Given the description of an element on the screen output the (x, y) to click on. 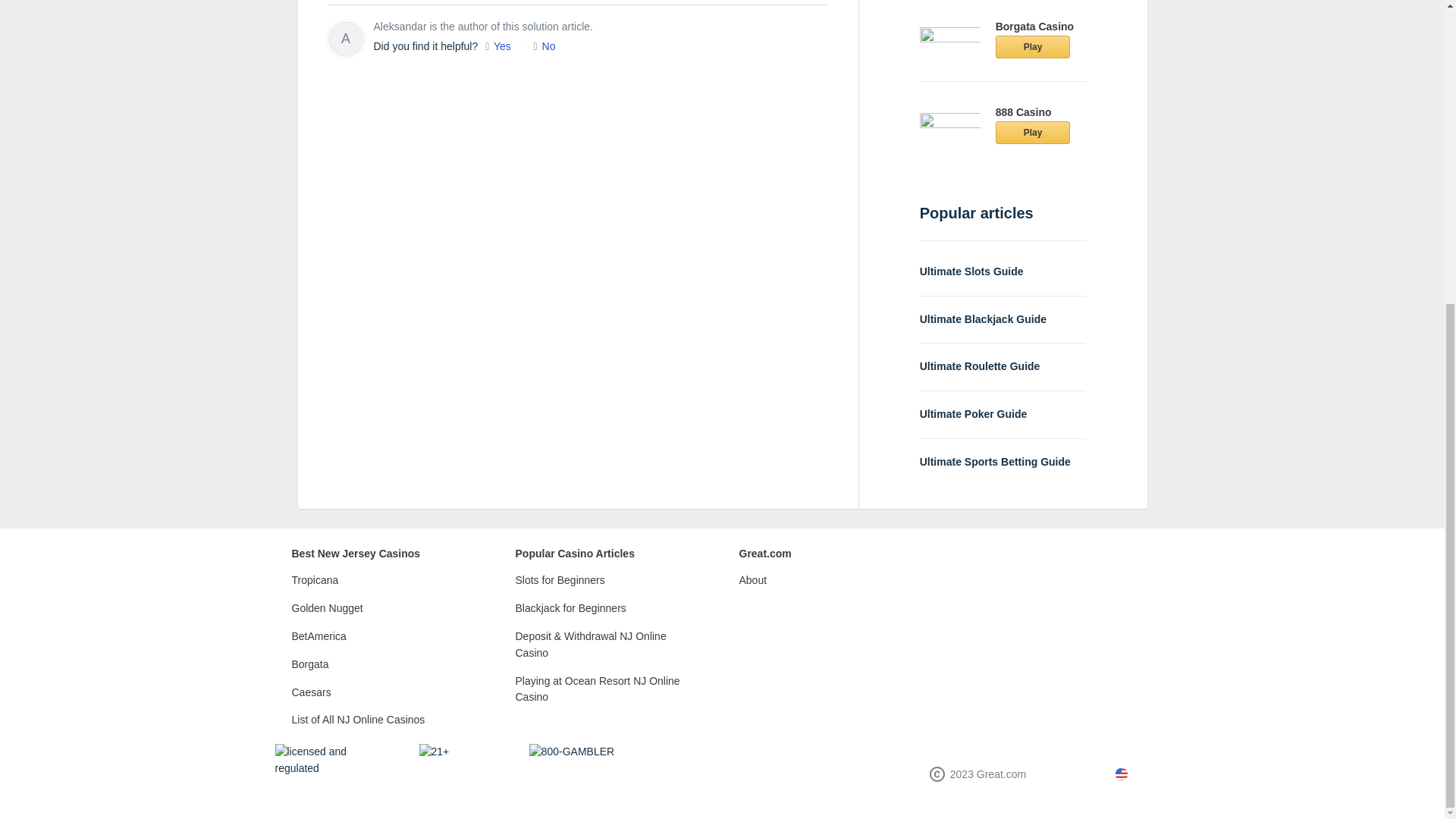
U.S. (1150, 766)
Borgata Casino (1034, 26)
Play (1032, 47)
888 Casino (1023, 111)
